Given the description of an element on the screen output the (x, y) to click on. 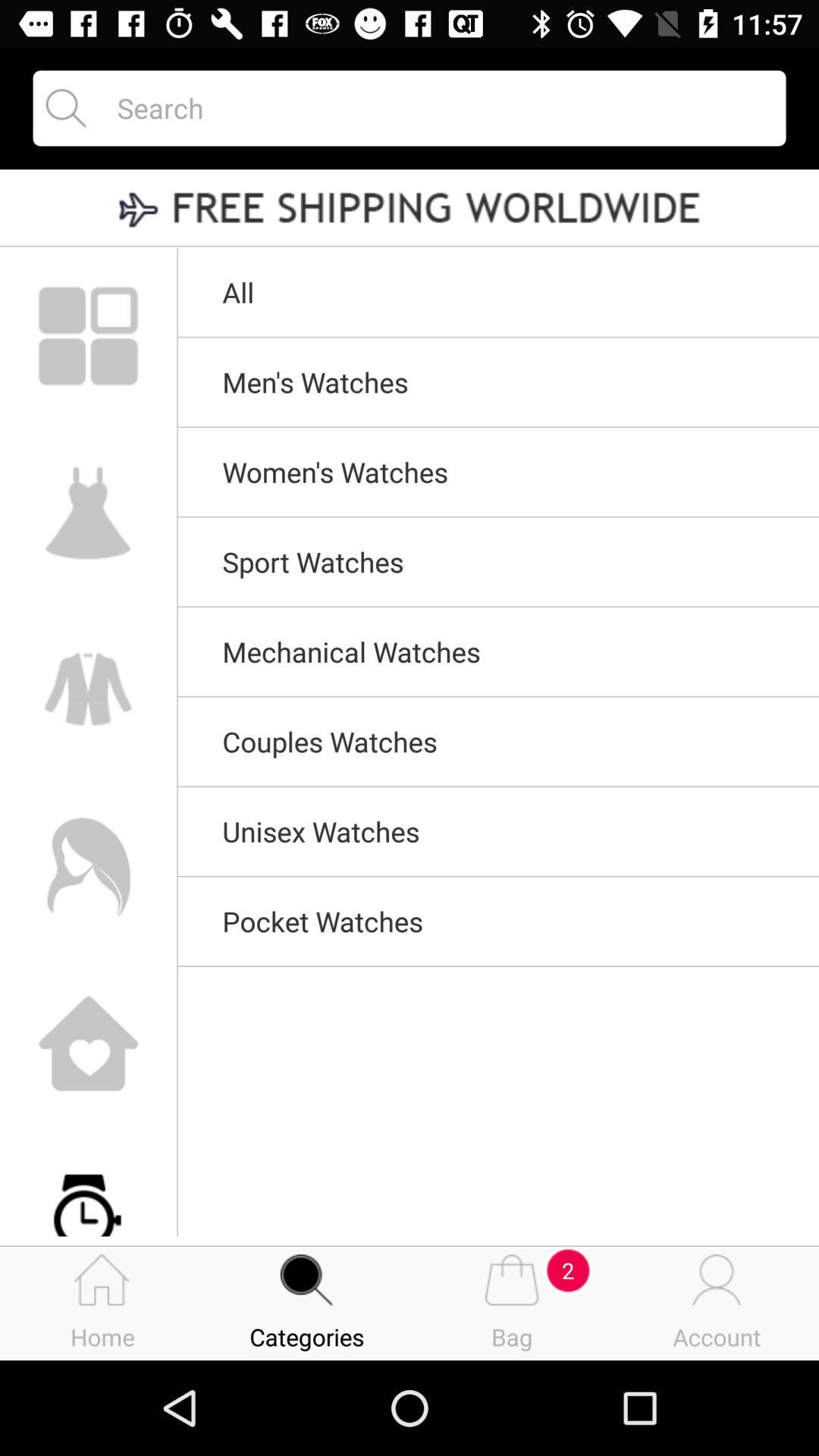
go to search box (437, 108)
